Given the description of an element on the screen output the (x, y) to click on. 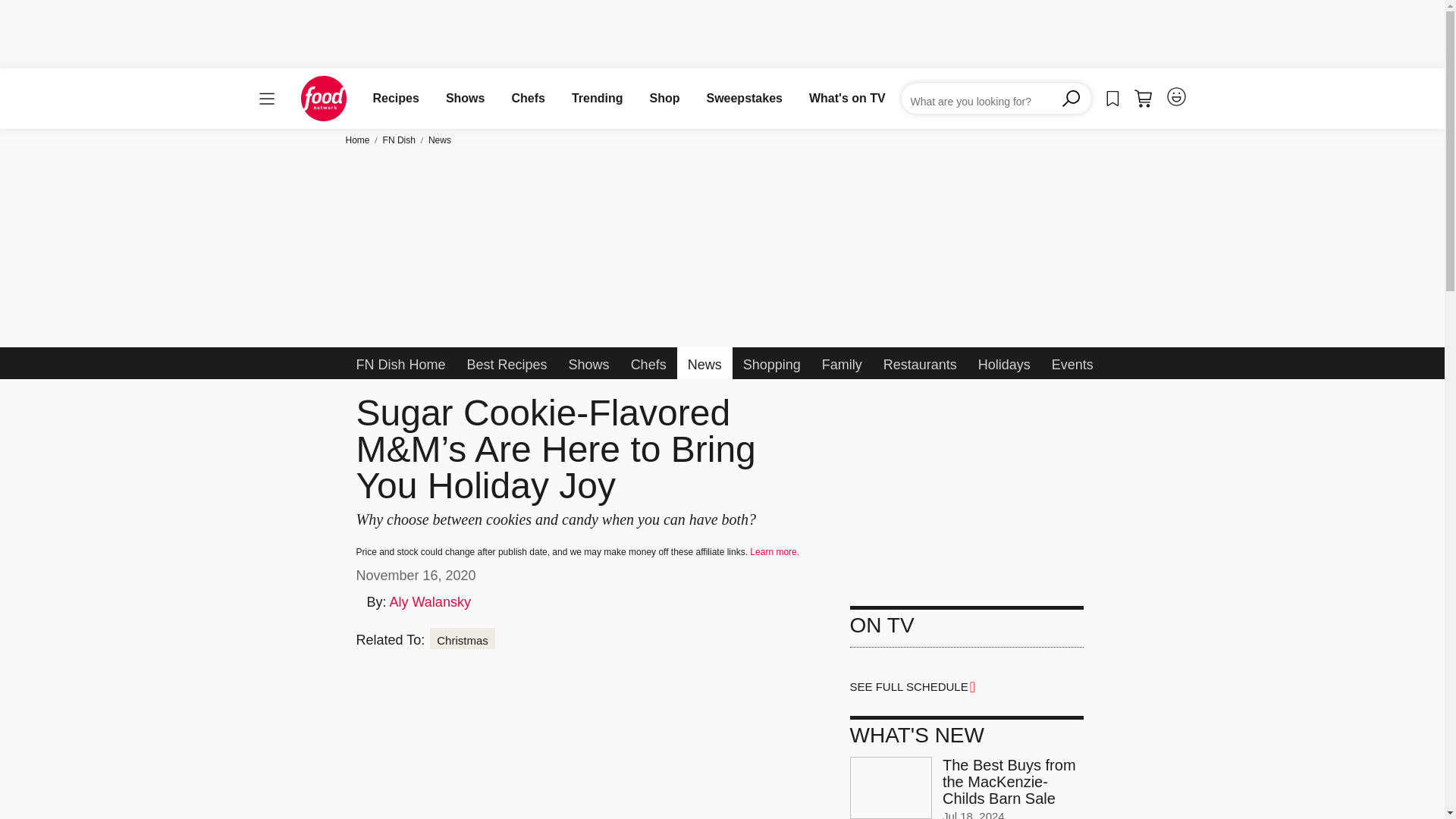
Shows (464, 97)
home (322, 98)
Recipes (395, 97)
